Given the description of an element on the screen output the (x, y) to click on. 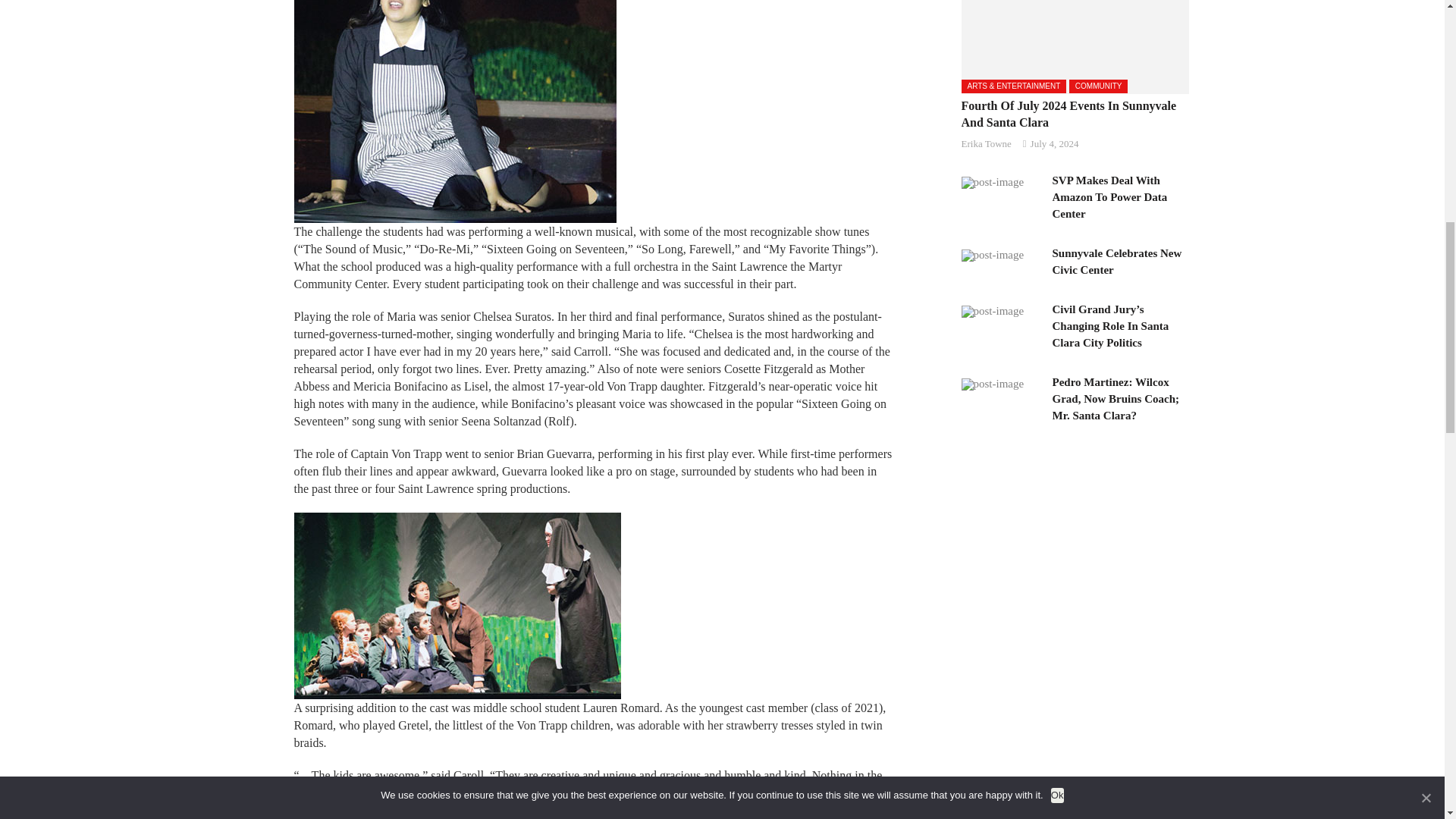
Saint Lawrence Produces Spring Show (457, 605)
Saint Lawrence Produces Spring Show (454, 111)
